Given the description of an element on the screen output the (x, y) to click on. 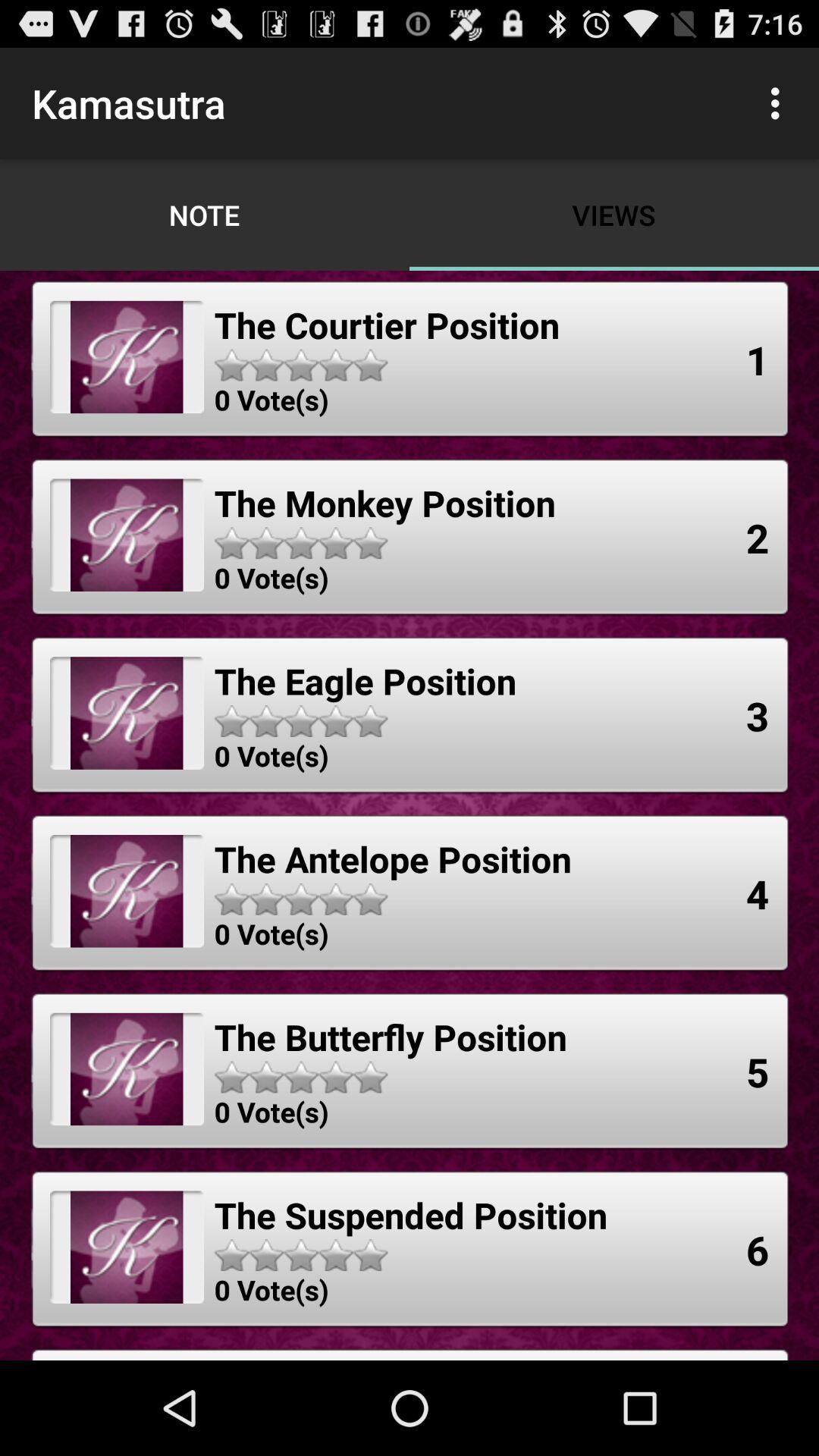
click icon next to the antelope position item (757, 893)
